Given the description of an element on the screen output the (x, y) to click on. 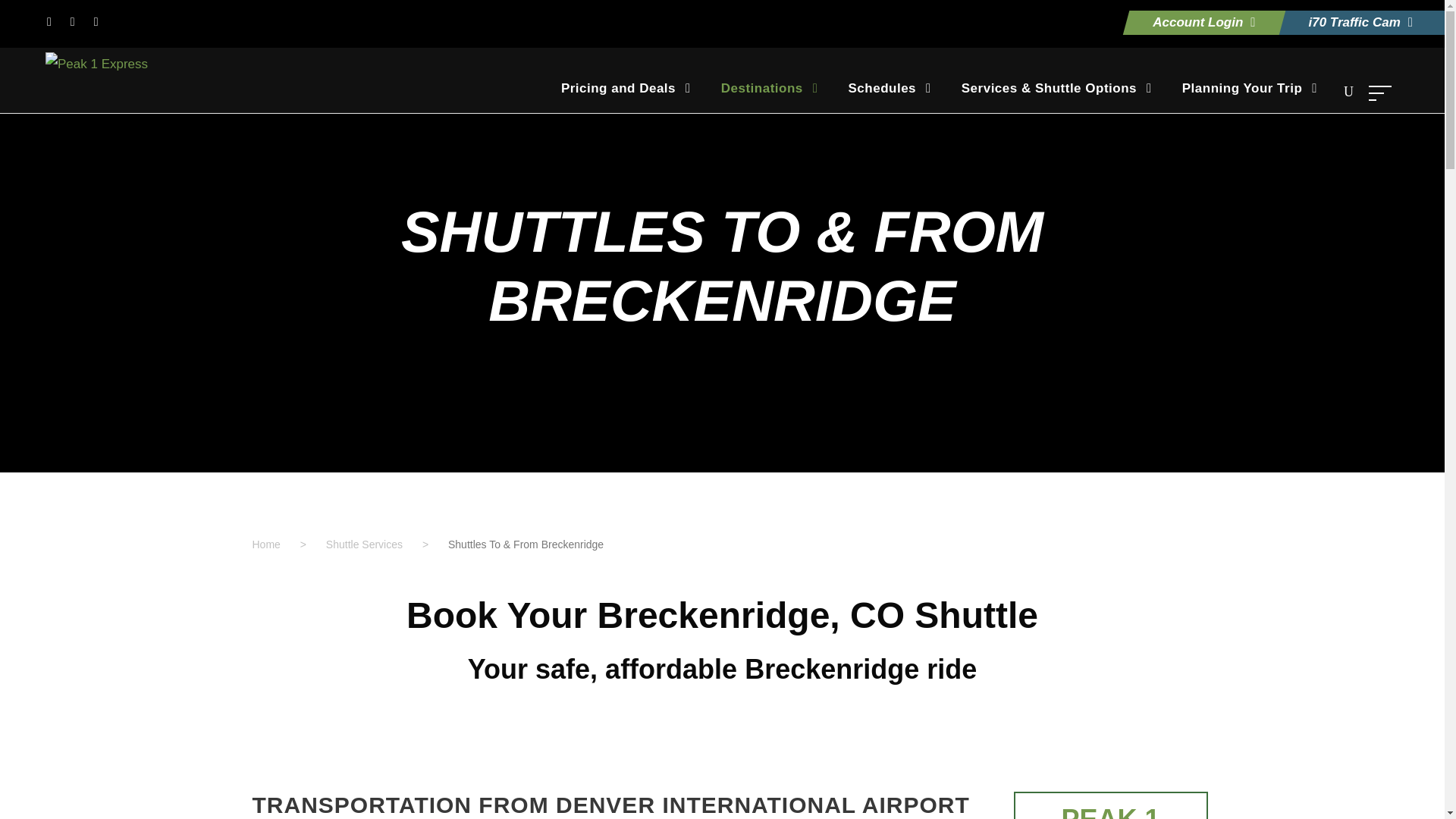
2018 logo (96, 64)
youtube (72, 21)
instagram (96, 21)
Go to Shuttle Services. (364, 544)
Go to Peak 1 Express. (265, 544)
facebook (48, 21)
